Given the description of an element on the screen output the (x, y) to click on. 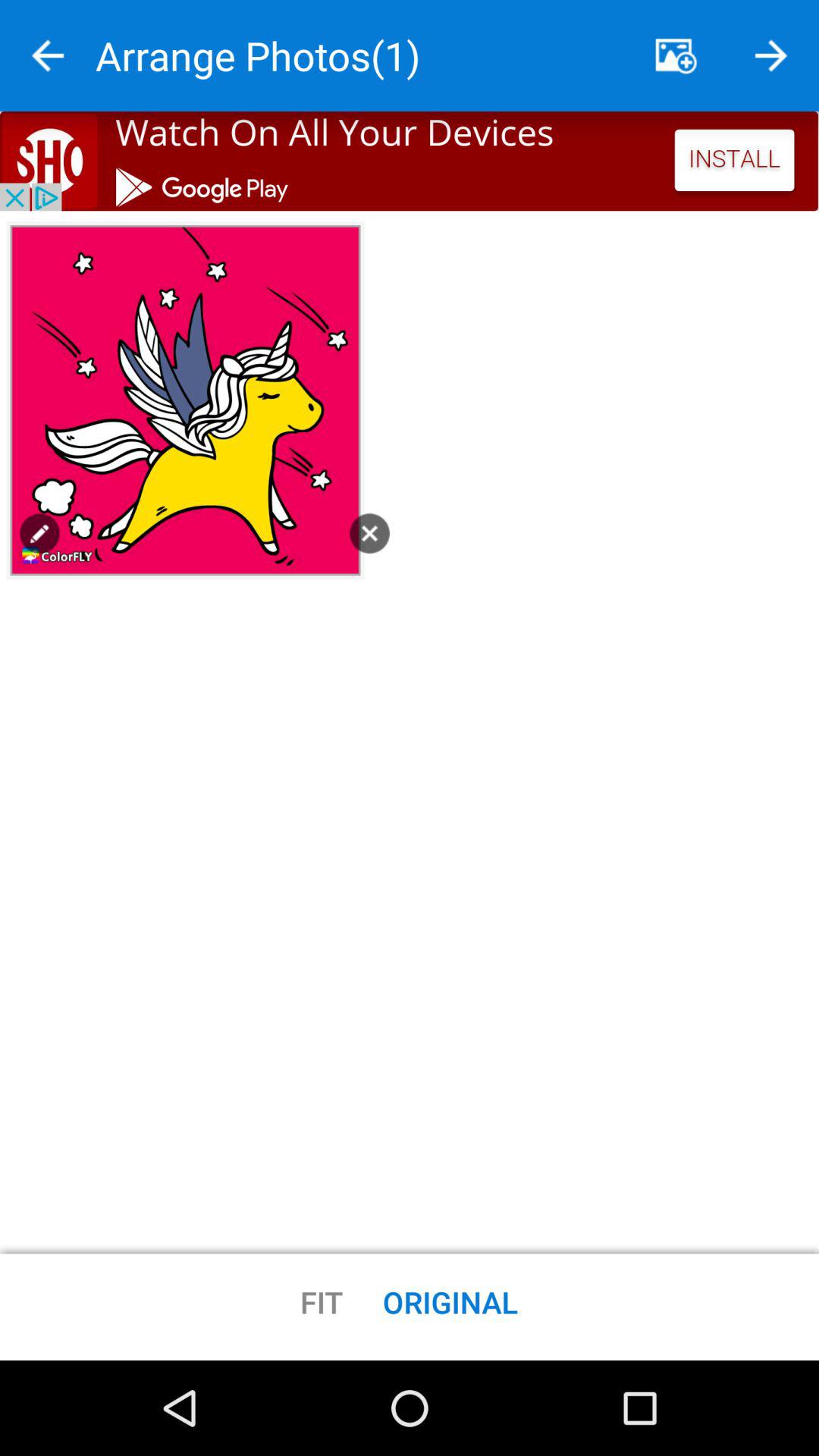
install app (409, 161)
